Given the description of an element on the screen output the (x, y) to click on. 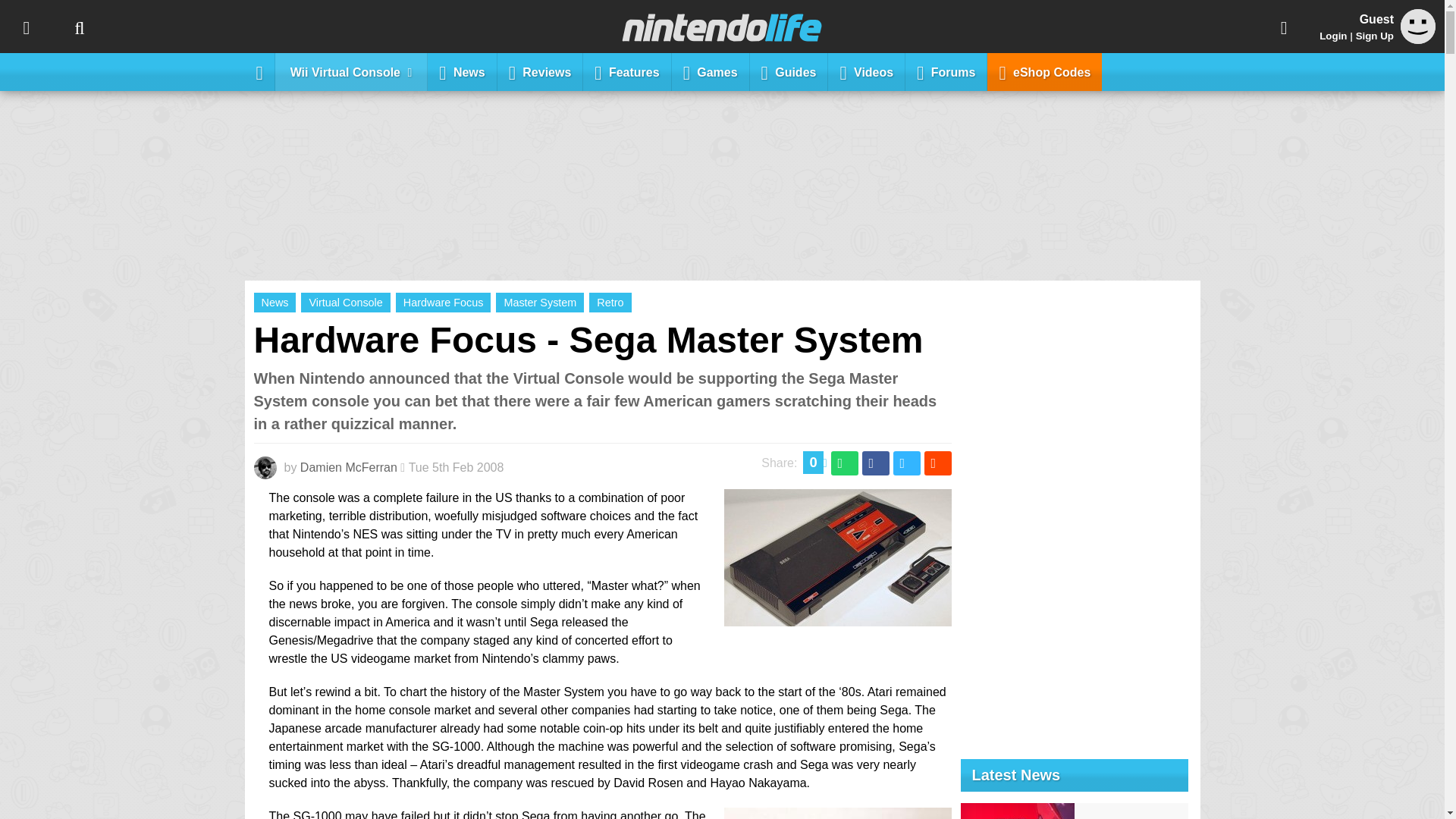
Guest (1417, 39)
Games (710, 71)
Share This Page (1283, 26)
Features (627, 71)
Videos (866, 71)
Wii Virtual Console (351, 71)
Guides (788, 71)
Forums (946, 71)
eShop Codes (1044, 71)
Guest (1417, 26)
